Given the description of an element on the screen output the (x, y) to click on. 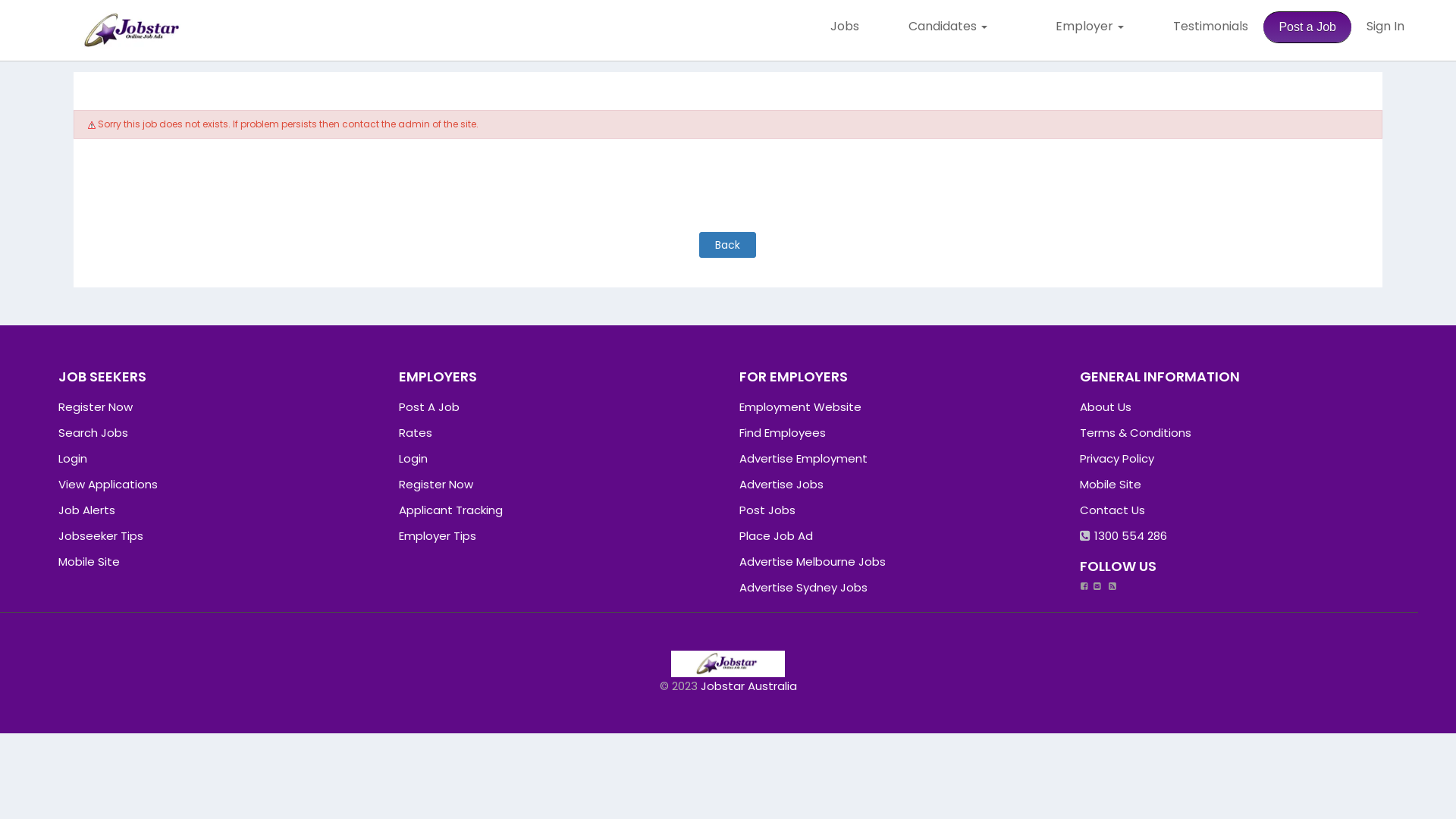
Testimonials Element type: text (1210, 26)
Candidates Element type: text (947, 26)
Advertise Melbourne Jobs Element type: text (812, 561)
Advertise Employment Element type: text (803, 458)
Terms & Conditions Element type: text (1135, 432)
Post Jobs Element type: text (767, 509)
Back Element type: text (727, 233)
Jobseeker Tips Element type: text (100, 535)
Rates Element type: text (415, 432)
Back Element type: text (727, 244)
Employer Tips Element type: text (437, 535)
Advertise Jobs Element type: text (781, 484)
Employer Element type: text (1089, 26)
Applicant Tracking Element type: text (450, 509)
Mobile Site Element type: text (1110, 484)
Post A Job Element type: text (428, 406)
Register Now Element type: text (95, 406)
Sign In Element type: text (1385, 26)
Job Alerts Element type: text (86, 509)
Privacy Policy Element type: text (1116, 458)
Place Job Ad Element type: text (775, 535)
Jobs Element type: text (844, 26)
Mobile Site Element type: text (88, 561)
Login Element type: text (412, 458)
Login Element type: text (72, 458)
Contact Us Element type: text (1112, 509)
Post a Job Element type: text (1307, 26)
Advertise Sydney Jobs Element type: text (803, 587)
Employment Website Element type: text (800, 406)
Jobstar Australia Element type: text (748, 685)
About Us Element type: text (1105, 406)
Register Now Element type: text (435, 484)
1300 554 286 Element type: text (1123, 535)
Find Employees Element type: text (782, 432)
Search Jobs Element type: text (93, 432)
View Applications Element type: text (107, 484)
